Given the description of an element on the screen output the (x, y) to click on. 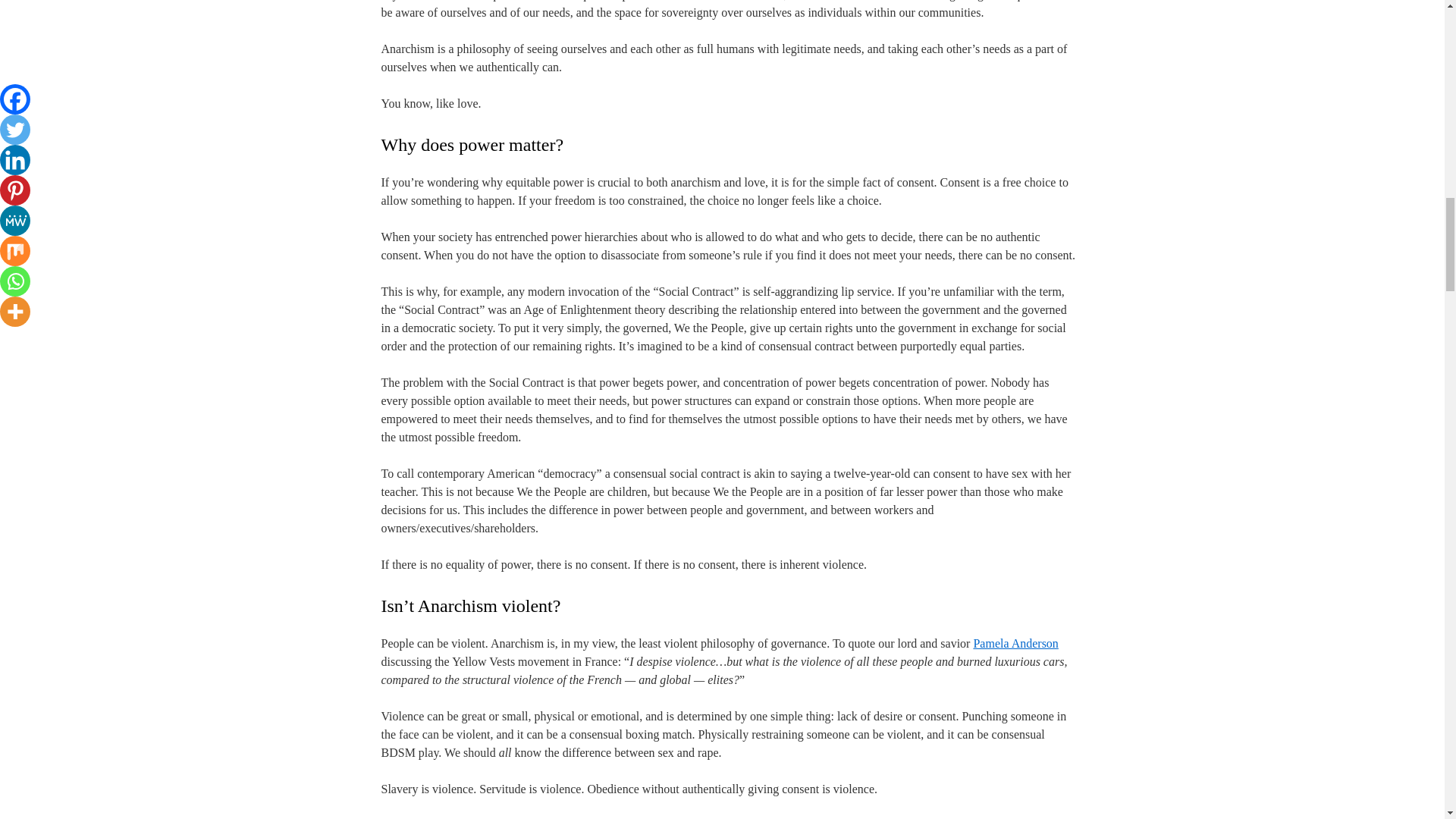
Pamela Anderson (1015, 643)
